Given the description of an element on the screen output the (x, y) to click on. 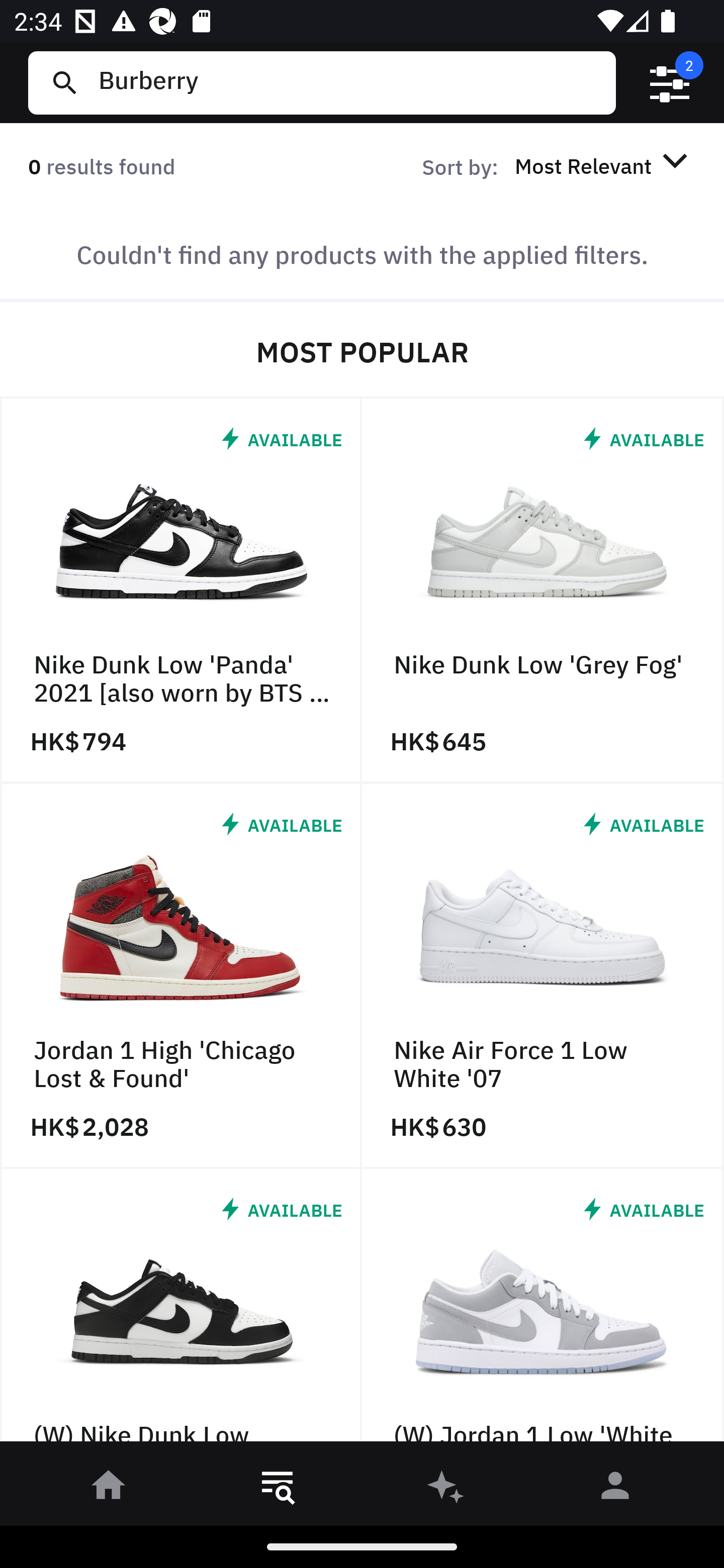
Burberry (349, 82)
 (669, 82)
Most Relevant  (604, 165)
 AVAILABLE Nike Dunk Low 'Grey Fog' HK$ 645 (543, 591)
 AVAILABLE Nike Air Force 1 Low White '07 HK$ 630 (543, 976)
 AVAILABLE (W) Nike Dunk Low 'Panda' 2021 (181, 1309)
 AVAILABLE (W) Jordan 1 Low 'White Wolf Grey' (543, 1309)
󰋜 (108, 1488)
󱎸 (277, 1488)
󰫢 (446, 1488)
󰀄 (615, 1488)
